Given the description of an element on the screen output the (x, y) to click on. 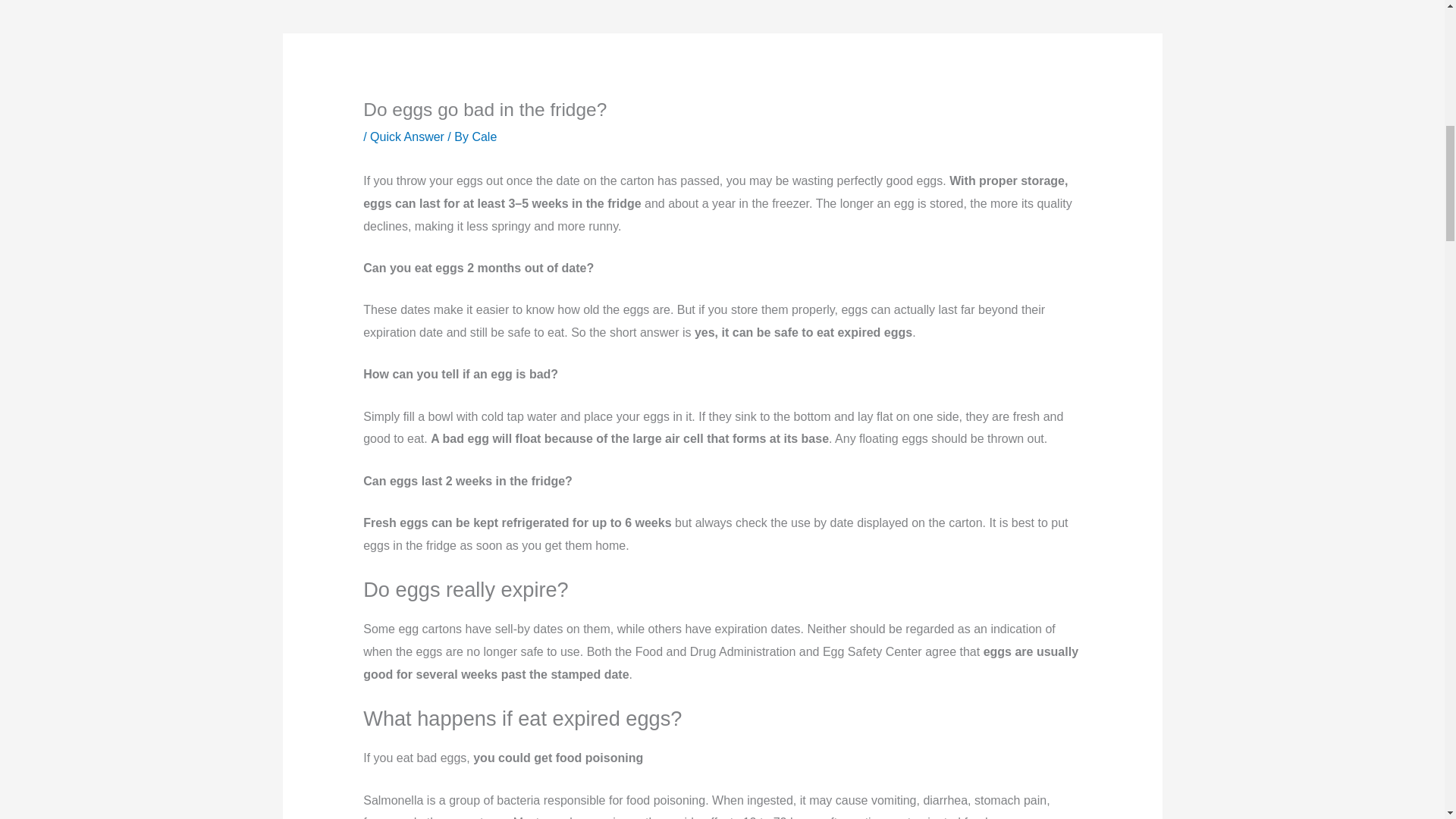
Cale (483, 136)
Quick Answer (406, 136)
View all posts by Cale (483, 136)
